Given the description of an element on the screen output the (x, y) to click on. 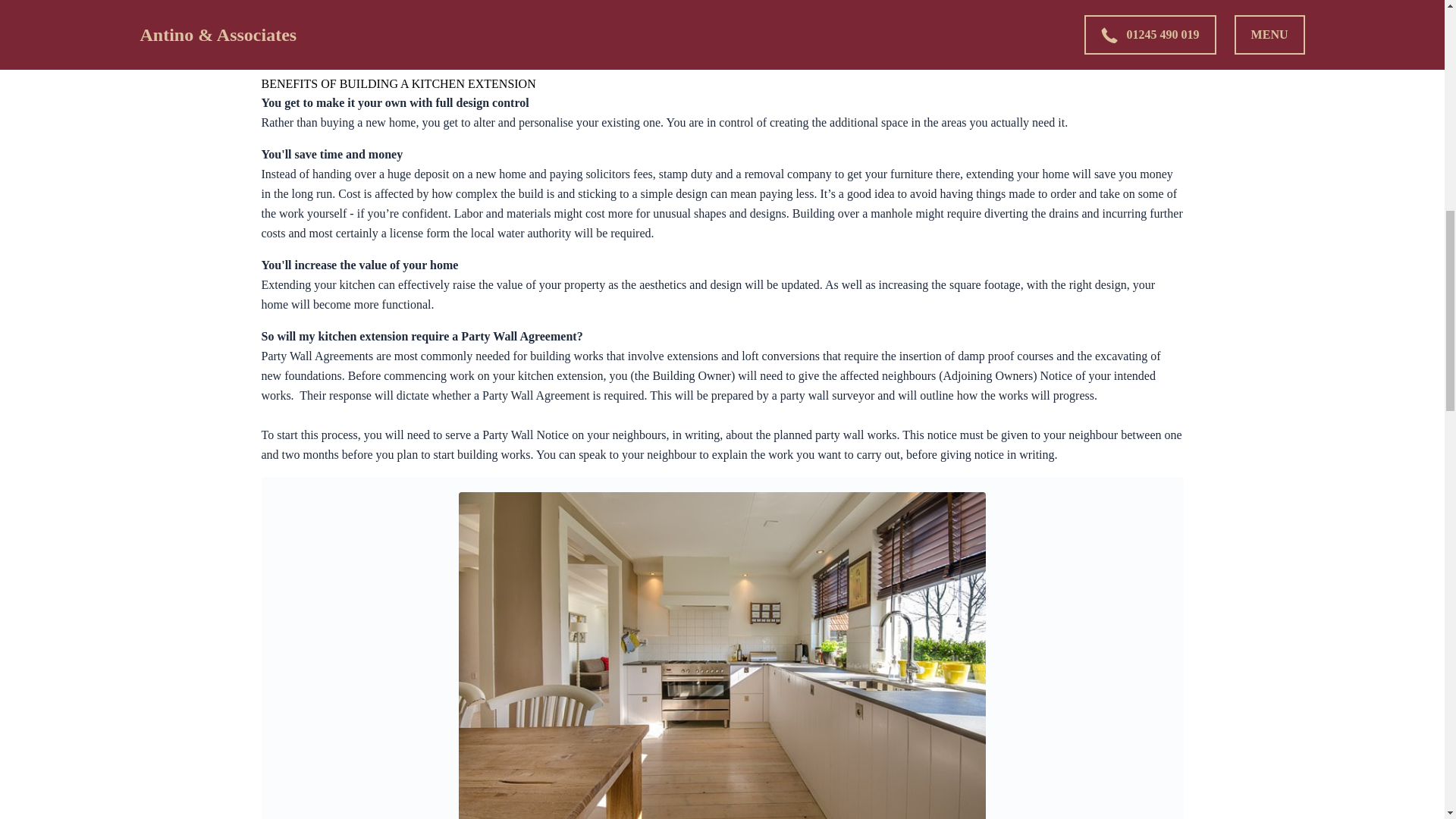
www.emersoninteriors.co.uk (702, 51)
